Given the description of an element on the screen output the (x, y) to click on. 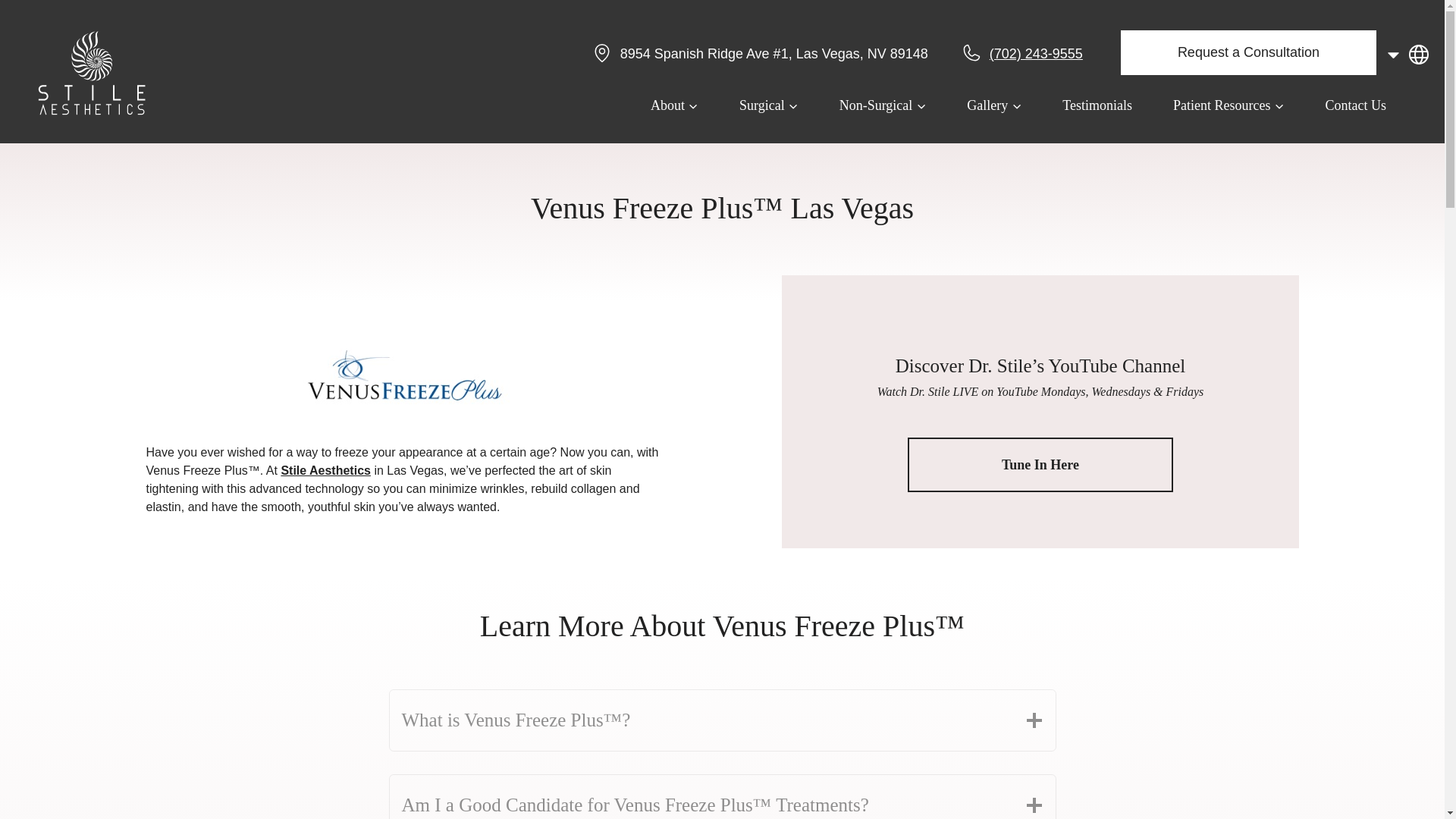
Request a Consultation (1248, 52)
Surgical (768, 105)
About (674, 105)
